Given the description of an element on the screen output the (x, y) to click on. 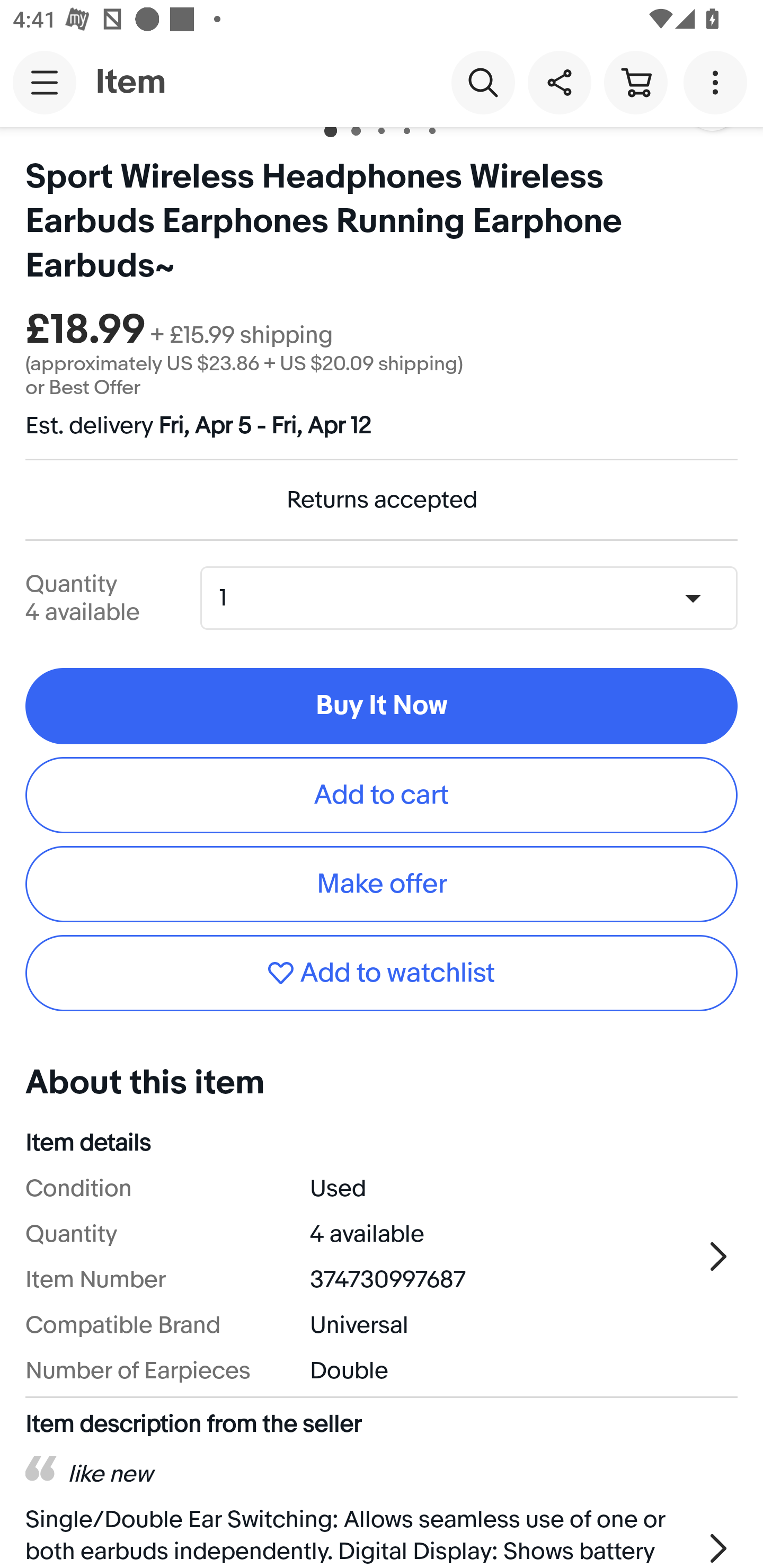
Main navigation, open (44, 82)
Search (482, 81)
Share this item (559, 81)
Cart button shopping cart (635, 81)
More options (718, 81)
Quantity,1,4 available 1 (474, 597)
Buy It Now (381, 705)
Add to cart (381, 794)
Make offer (381, 883)
Add to watchlist (381, 972)
